Given the description of an element on the screen output the (x, y) to click on. 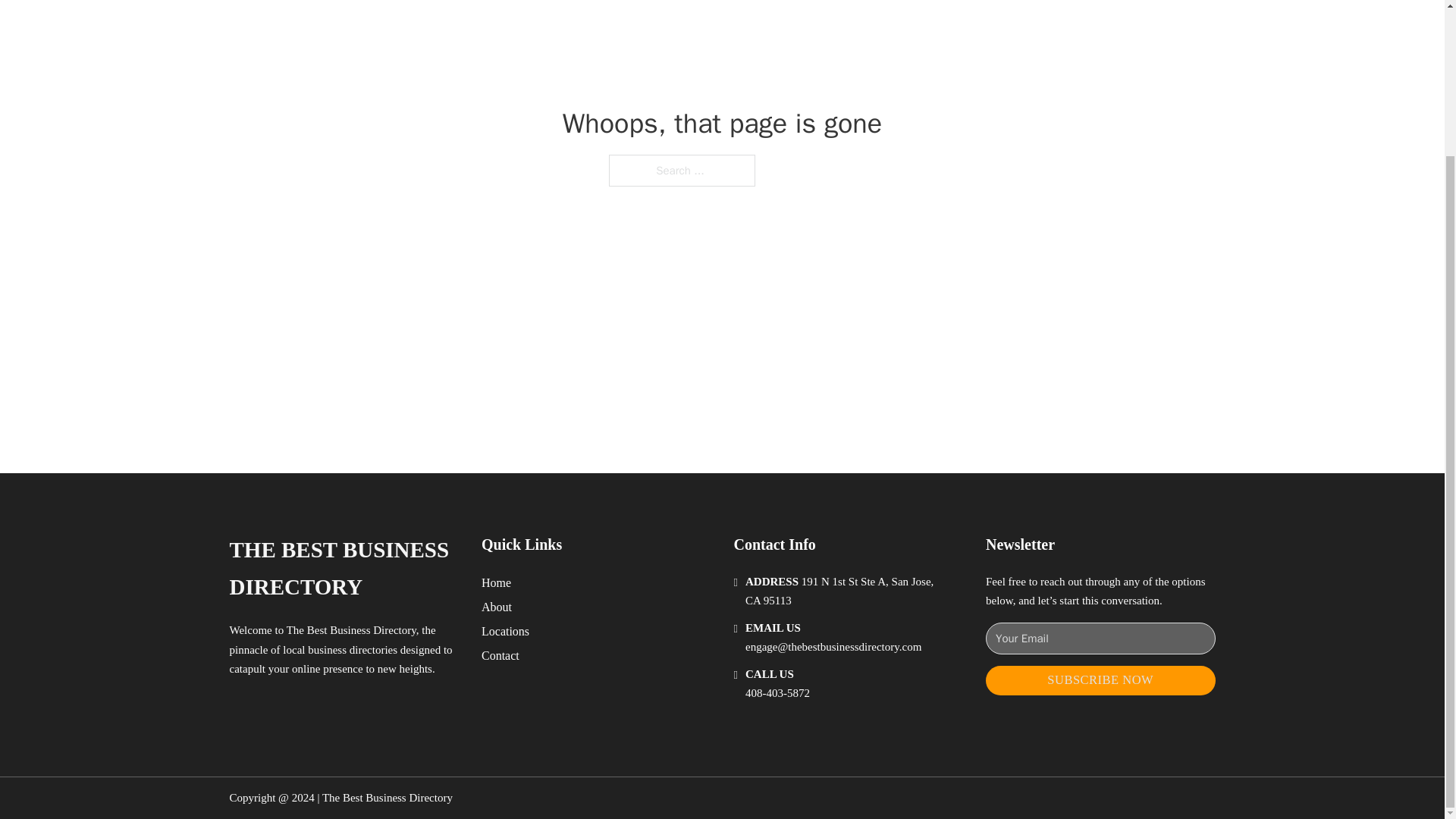
408-403-5872 (777, 693)
Locations (505, 630)
THE BEST BUSINESS DIRECTORY (343, 568)
Contact (500, 655)
Home (496, 582)
About (496, 607)
SUBSCRIBE NOW (1100, 680)
